Given the description of an element on the screen output the (x, y) to click on. 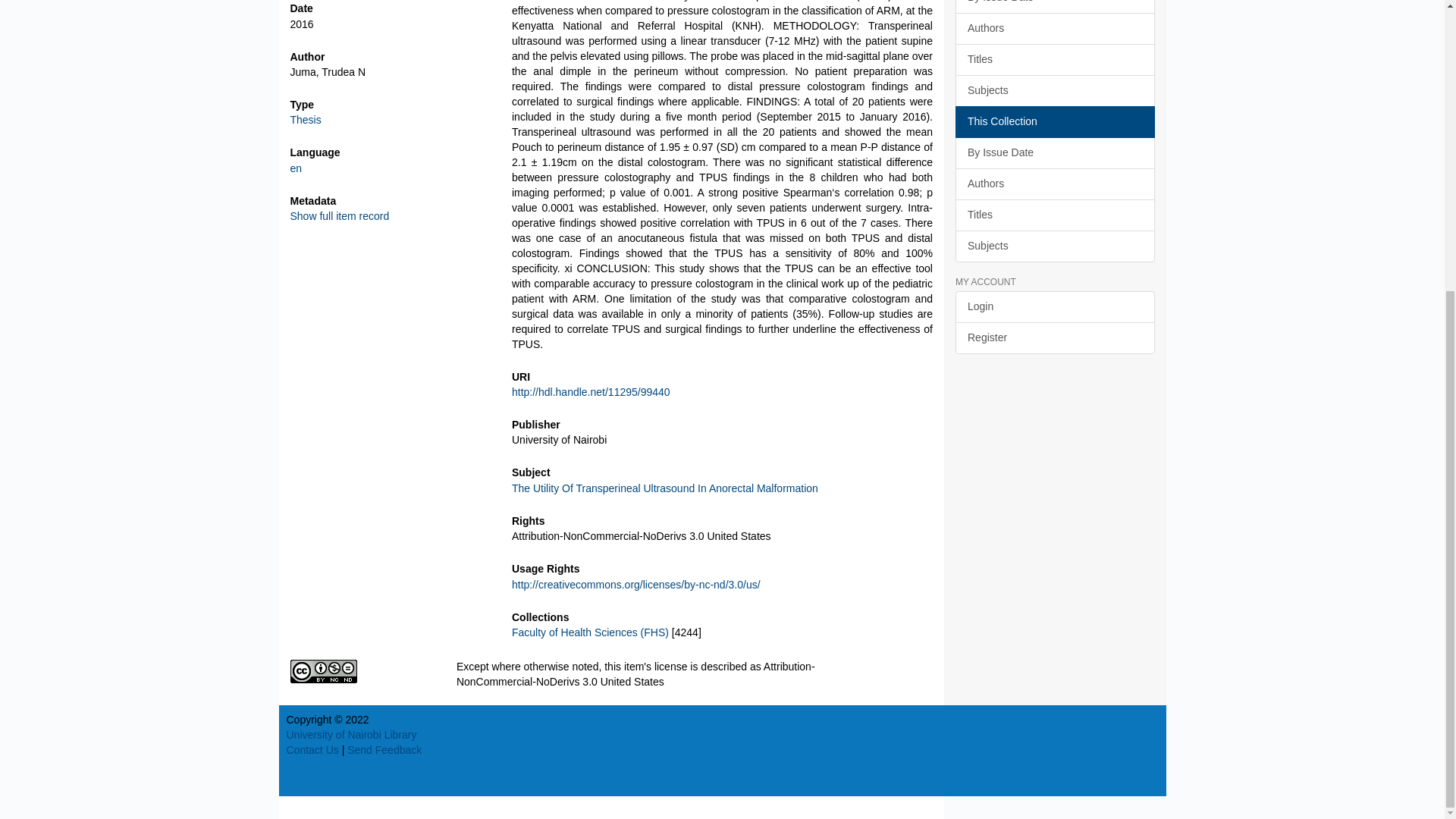
Titles (1054, 60)
By Issue Date (1054, 6)
This Collection (1054, 122)
en (295, 168)
Authors (1054, 183)
Subjects (1054, 91)
By Issue Date (1054, 152)
Thesis (304, 119)
Show full item record (338, 215)
Attribution-NonCommercial-NoDerivs 3.0 United States (360, 671)
Authors (1054, 29)
